Given the description of an element on the screen output the (x, y) to click on. 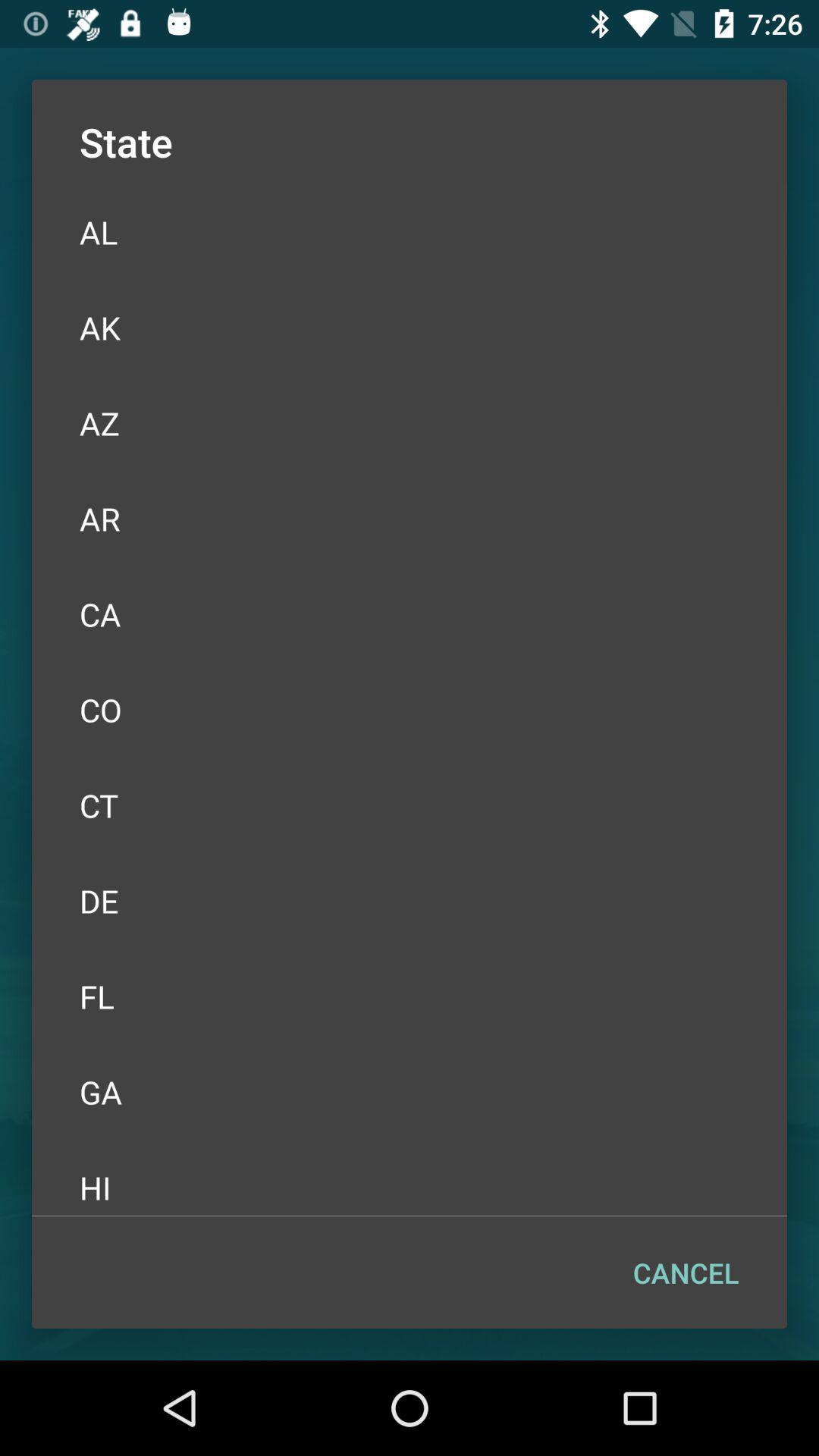
turn off the icon below the az item (409, 518)
